Given the description of an element on the screen output the (x, y) to click on. 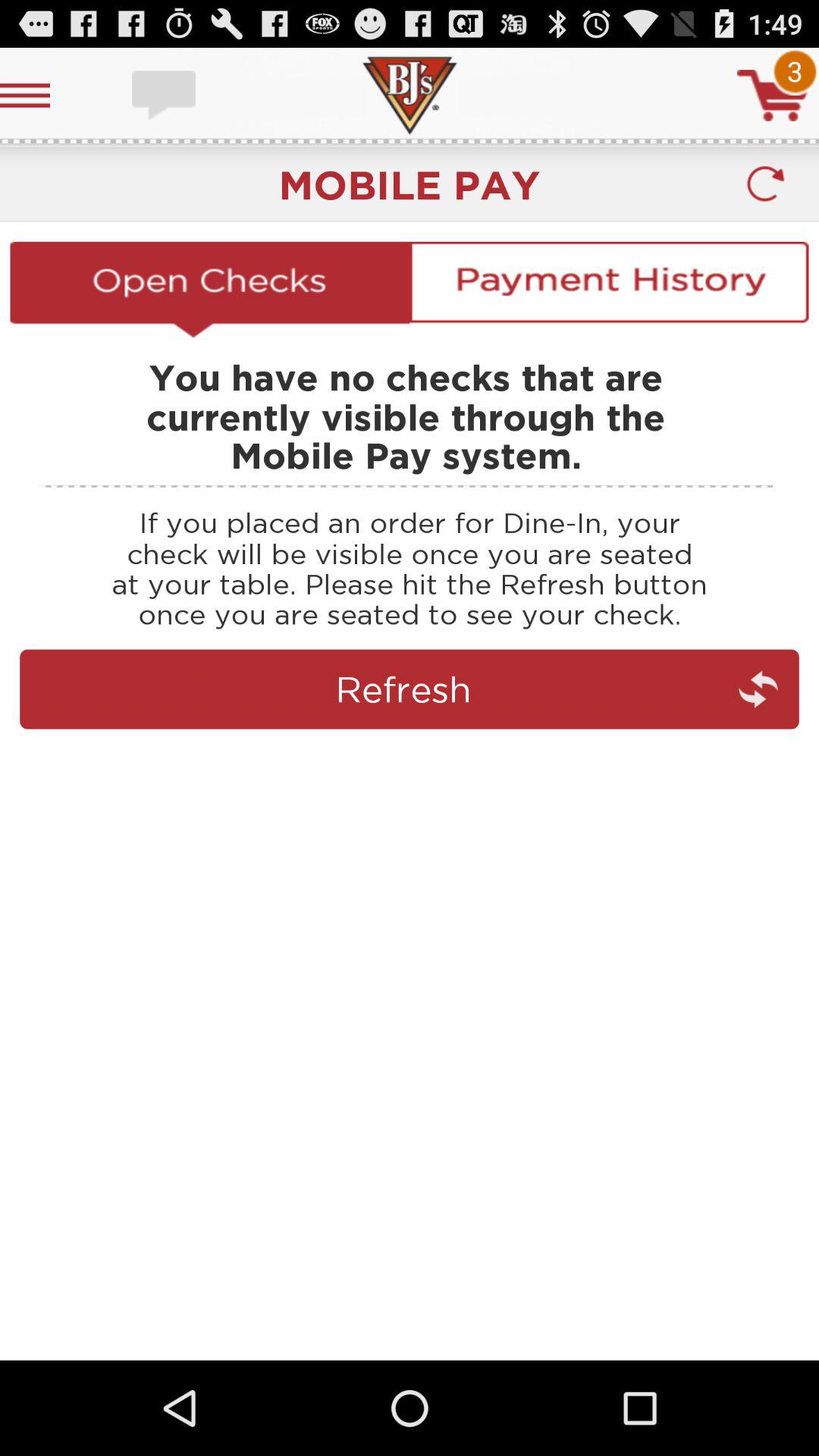
click to refresh page (409, 755)
